Given the description of an element on the screen output the (x, y) to click on. 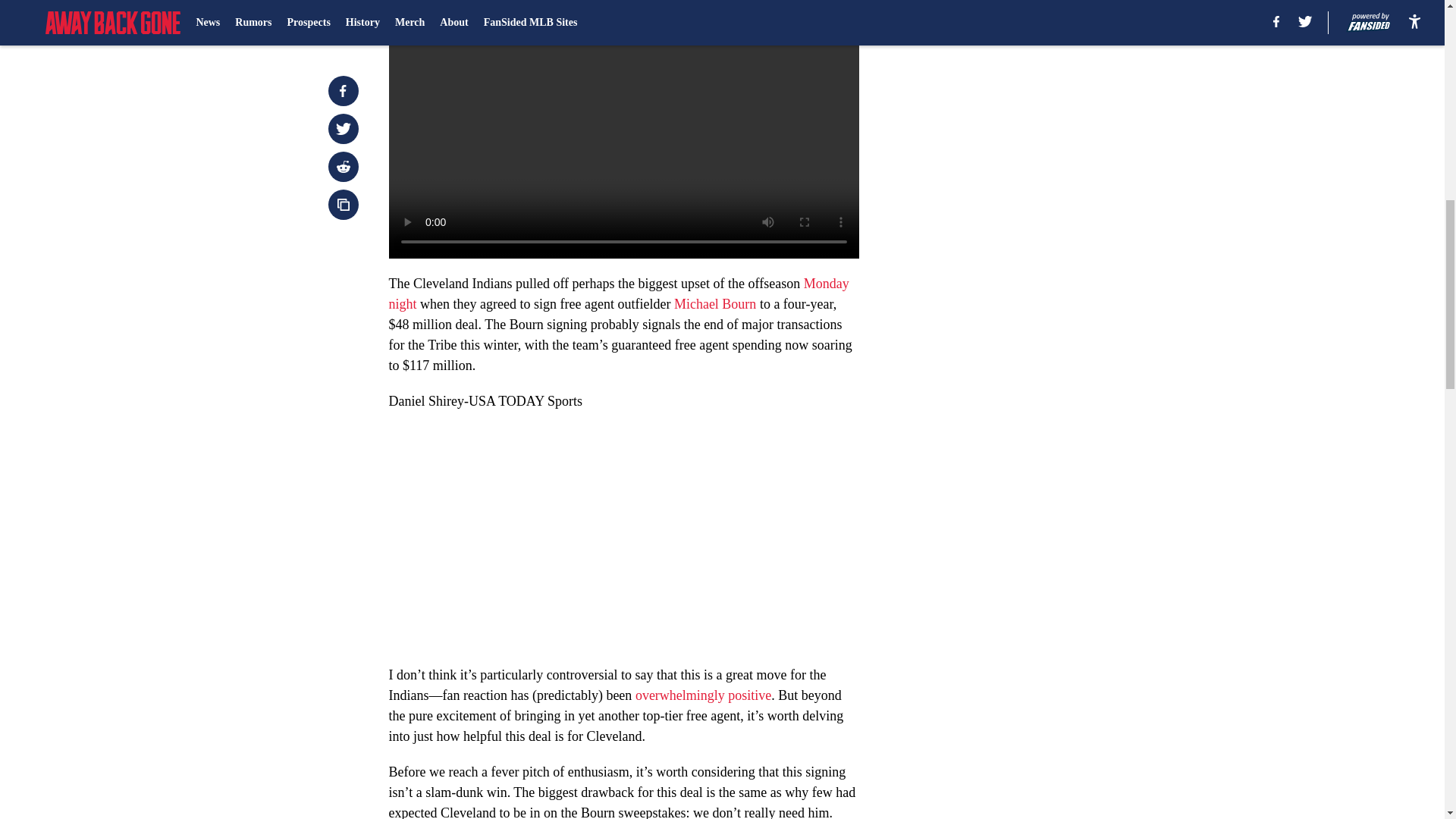
Monday night (618, 294)
overwhelmingly positive (702, 694)
3rd party ad content (1047, 308)
Michael Bourn (714, 304)
3rd party ad content (1047, 91)
